Given the description of an element on the screen output the (x, y) to click on. 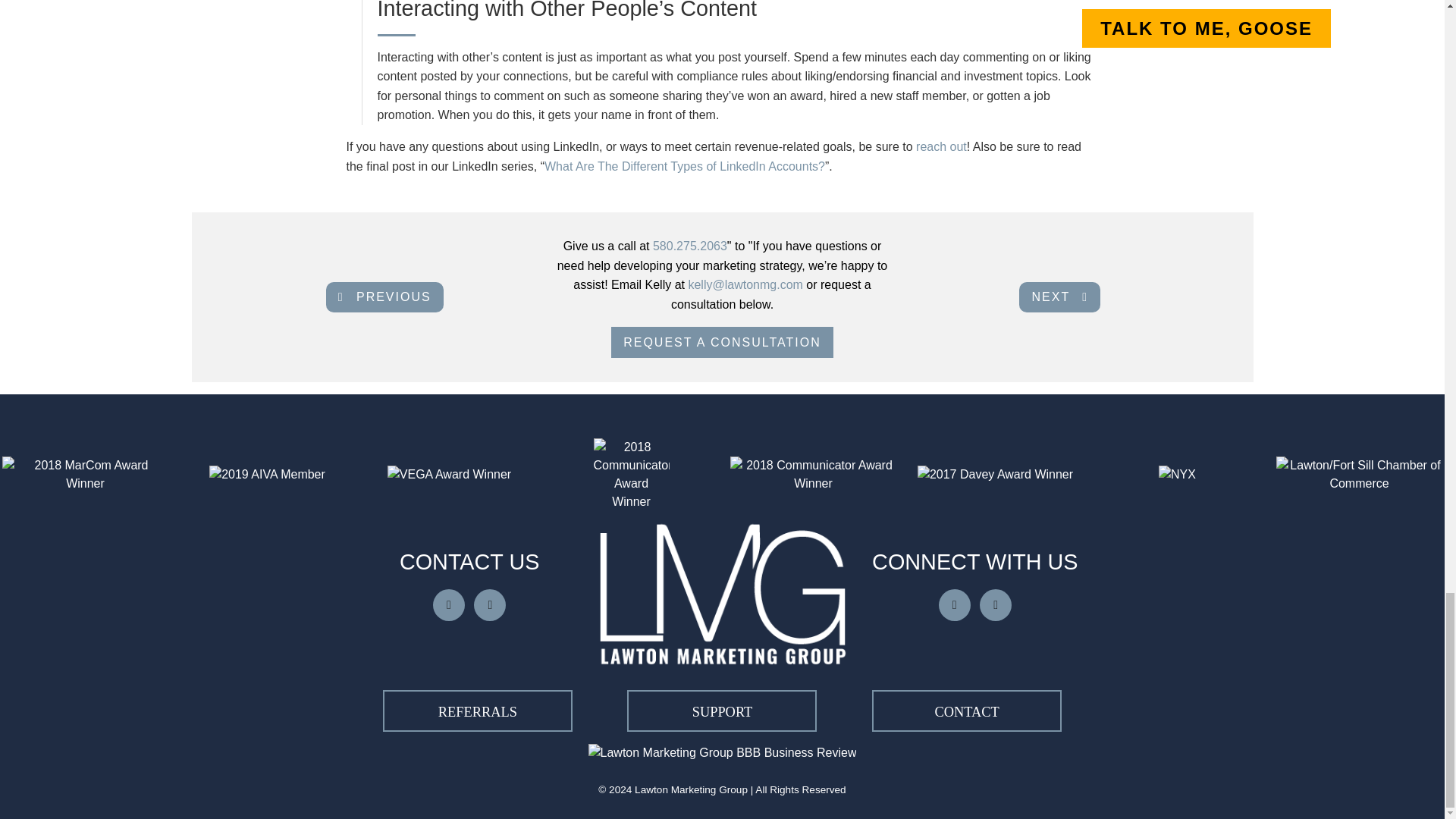
NEXT (1059, 296)
What Are The Different Types of LinkedIn Accounts? (684, 165)
580.275.2063 (689, 245)
reach out (940, 146)
PREVIOUS (385, 296)
CONTACT (966, 711)
REQUEST A CONSULTATION (721, 342)
REFERRALS (477, 711)
SUPPORT (721, 711)
